Given the description of an element on the screen output the (x, y) to click on. 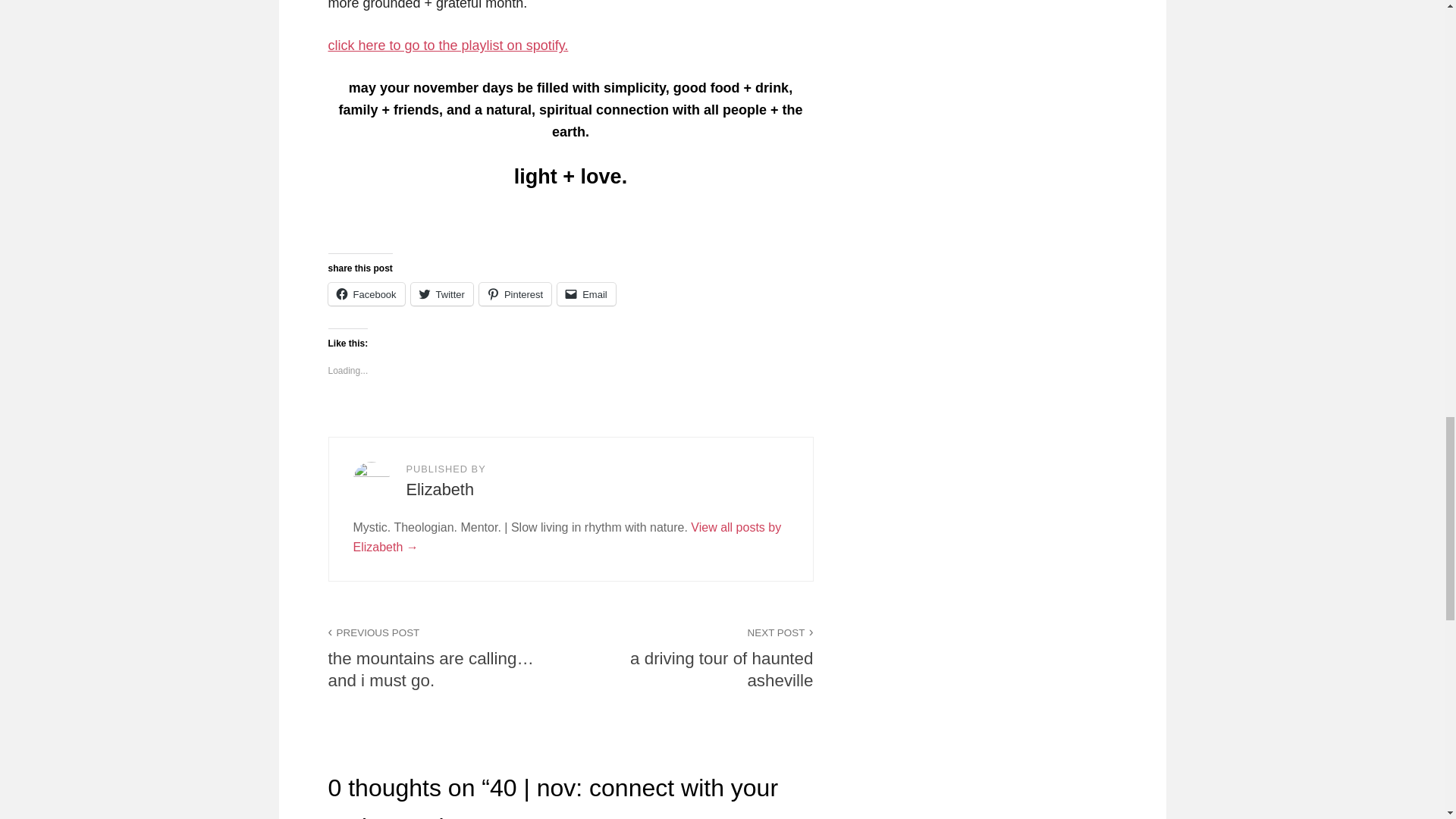
Click to share on Twitter (441, 293)
Click to share on Pinterest (515, 293)
Click to email a link to a friend (586, 293)
Click to share on Facebook (365, 293)
